Given the description of an element on the screen output the (x, y) to click on. 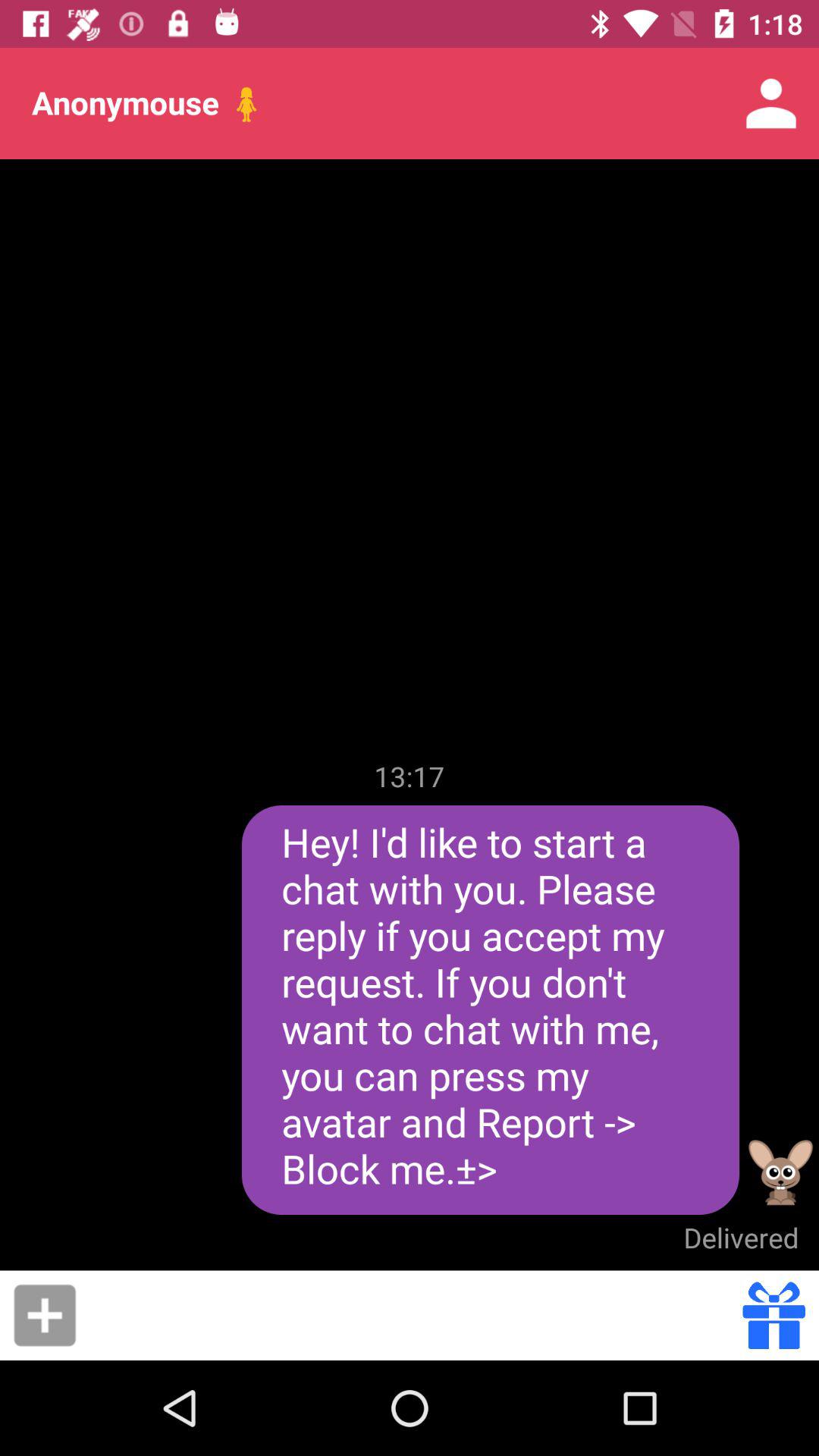
click (44, 1315)
